Given the description of an element on the screen output the (x, y) to click on. 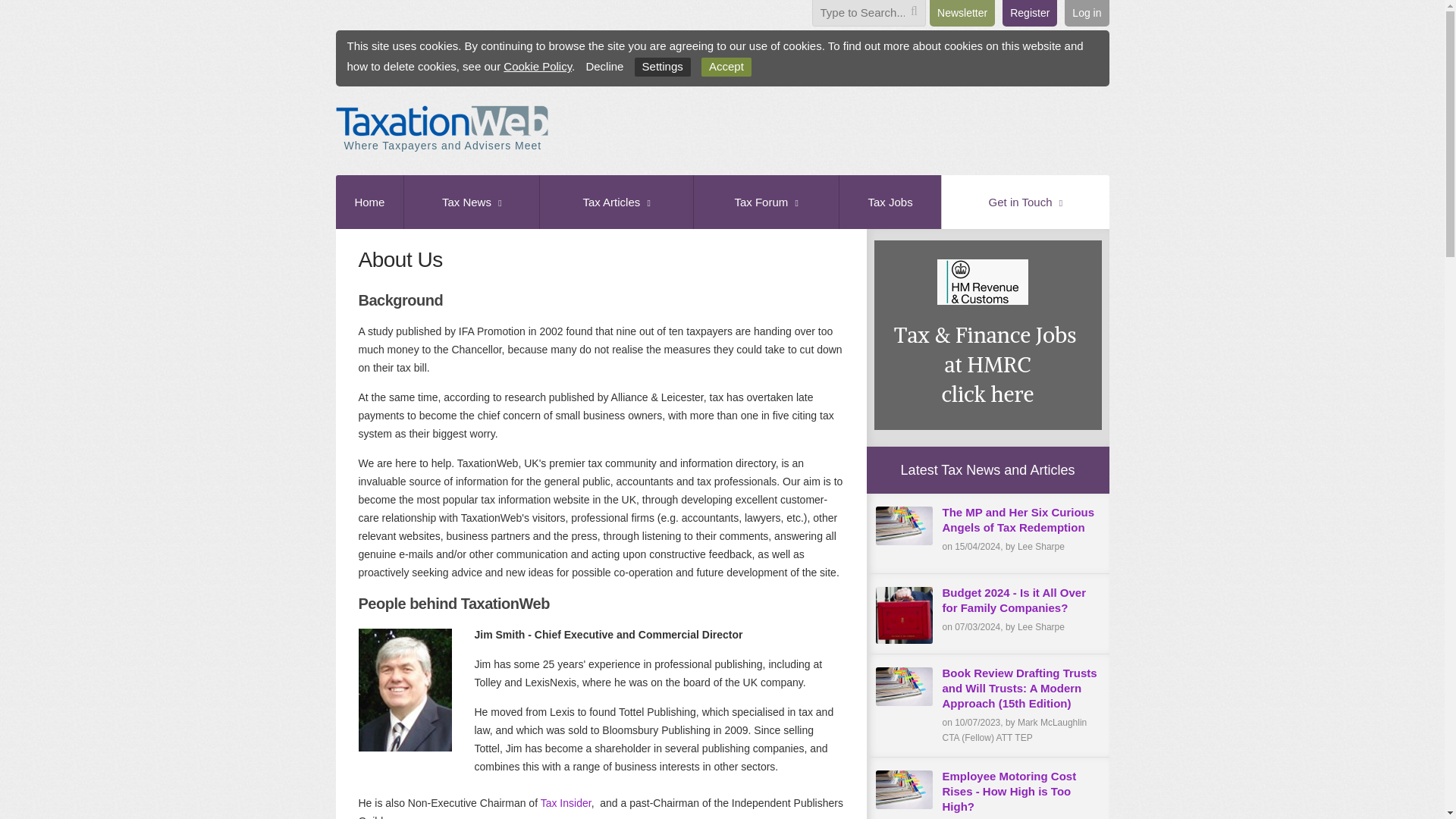
Settings (662, 66)
Home (368, 201)
Newsletter (962, 13)
Decline (607, 66)
Cookie Policy (537, 65)
Tax Articles (615, 201)
Tax News (470, 201)
Log in (1086, 13)
Register (1030, 13)
Accept (726, 66)
